Given the description of an element on the screen output the (x, y) to click on. 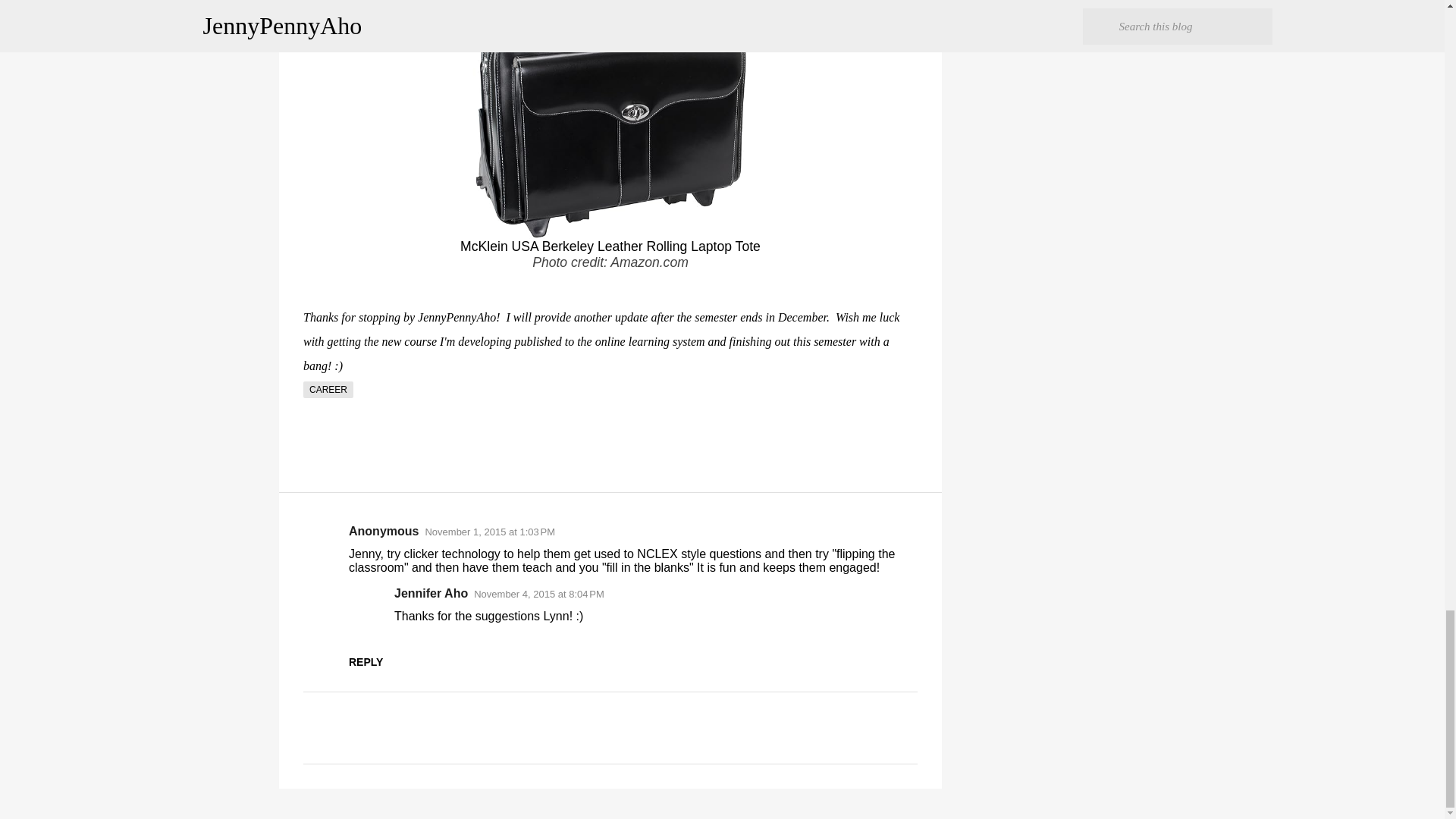
McKlein USA Berkeley Leather Rolling Laptop Tote (610, 246)
Jennifer Aho (430, 593)
CAREER (327, 389)
REPLY (365, 662)
